Given the description of an element on the screen output the (x, y) to click on. 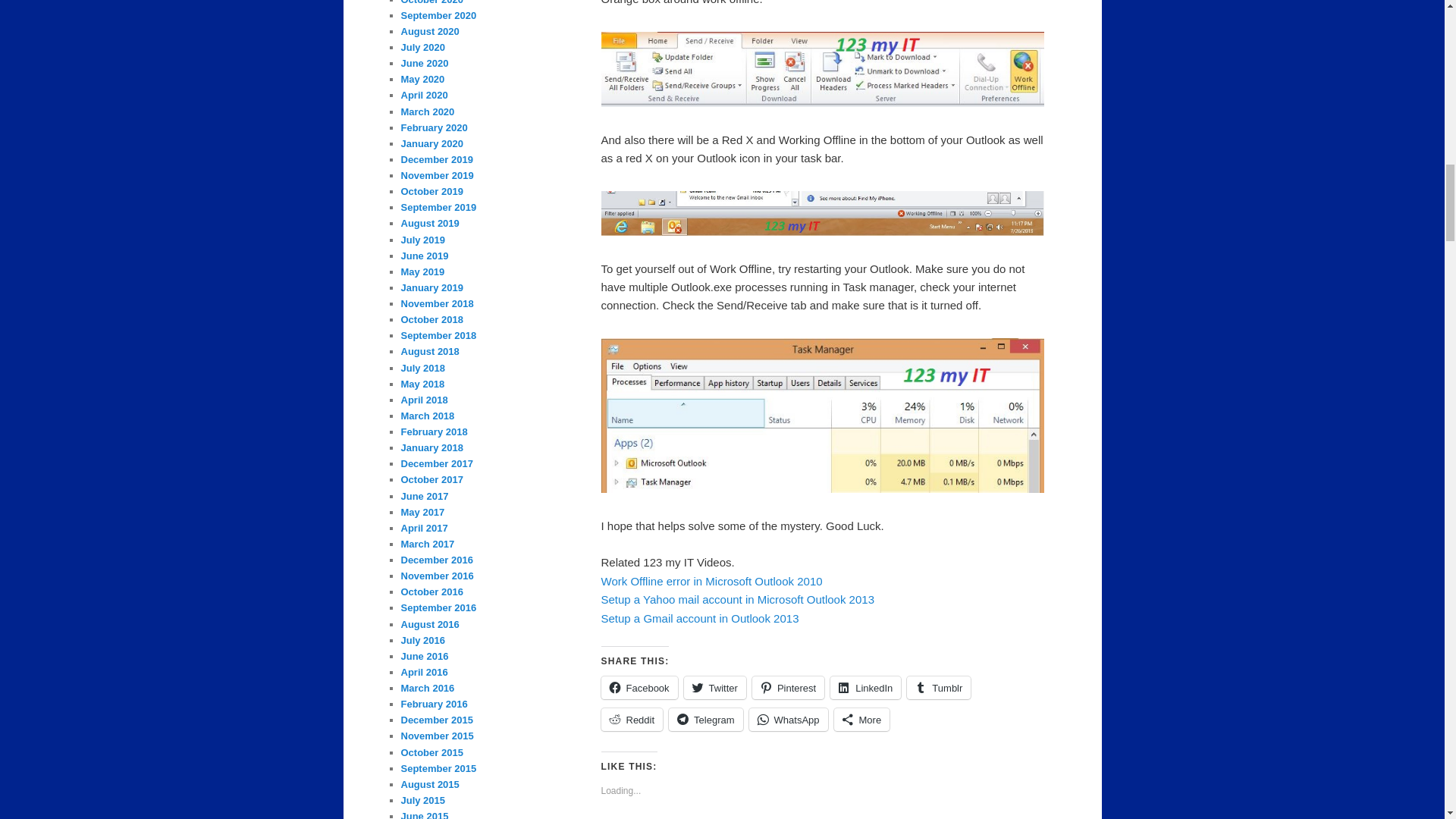
Click to share on LinkedIn (865, 687)
Click to share on Tumblr (939, 687)
Click to share on Twitter (714, 687)
How to setup a Yahoo mail account in Microsoft Outlook 2013. (737, 599)
Click to share on Facebook (638, 687)
How to setup a Gmail account in Outlook 2013. (698, 617)
How to fix the Work Offline error in Microsoft Outlook 2010 (710, 581)
Click to share on Pinterest (788, 687)
